Given the description of an element on the screen output the (x, y) to click on. 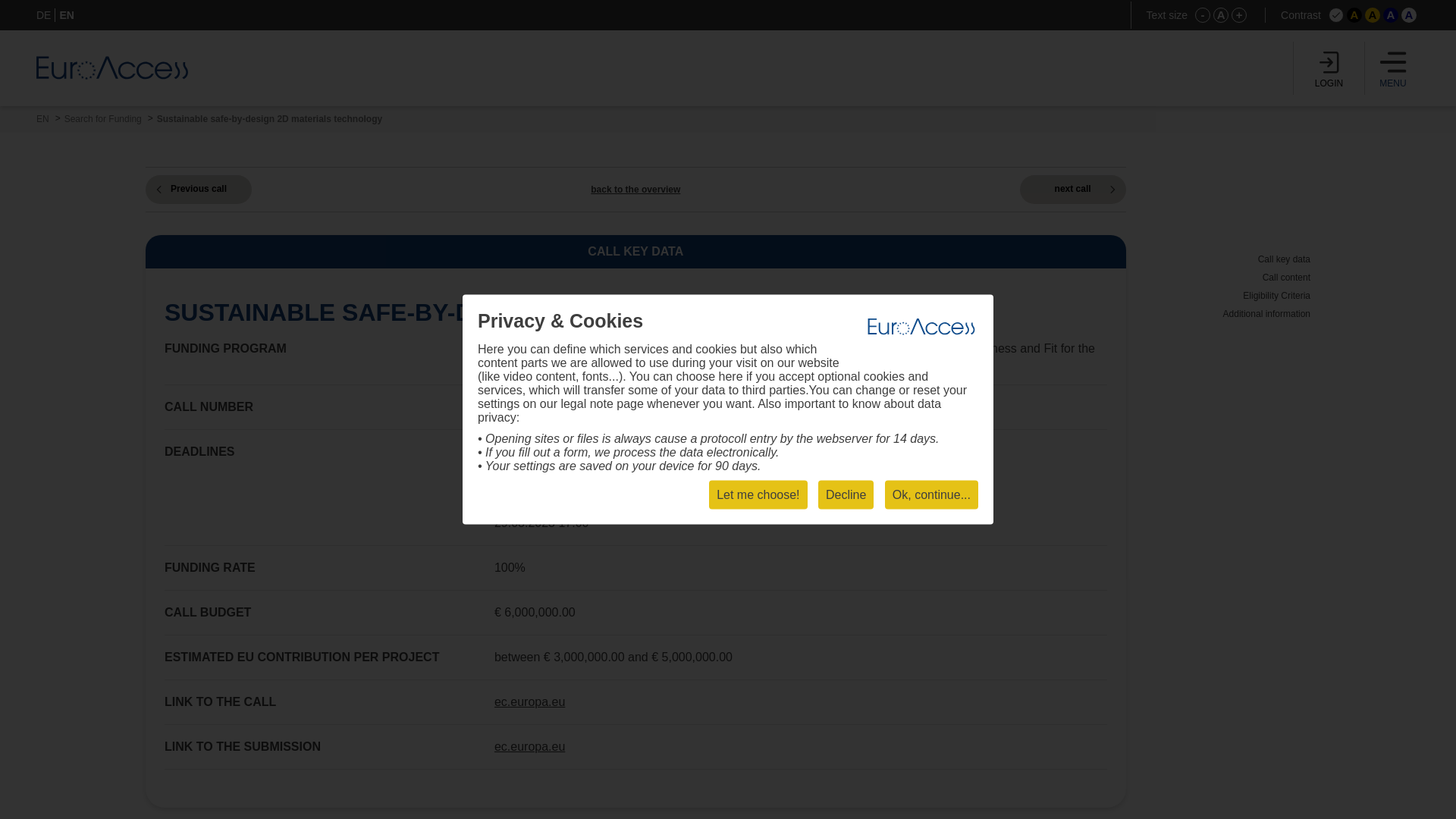
Search for Funding (102, 118)
MENU (1393, 68)
EN (66, 15)
Yellow on black (1353, 14)
Blue on white (1408, 14)
- (1202, 14)
A (1220, 14)
A (1390, 14)
Search for Funding (102, 118)
White on blue (1390, 14)
A (1408, 14)
DE (43, 15)
A (1372, 14)
A (1353, 14)
EN (42, 118)
